Given the description of an element on the screen output the (x, y) to click on. 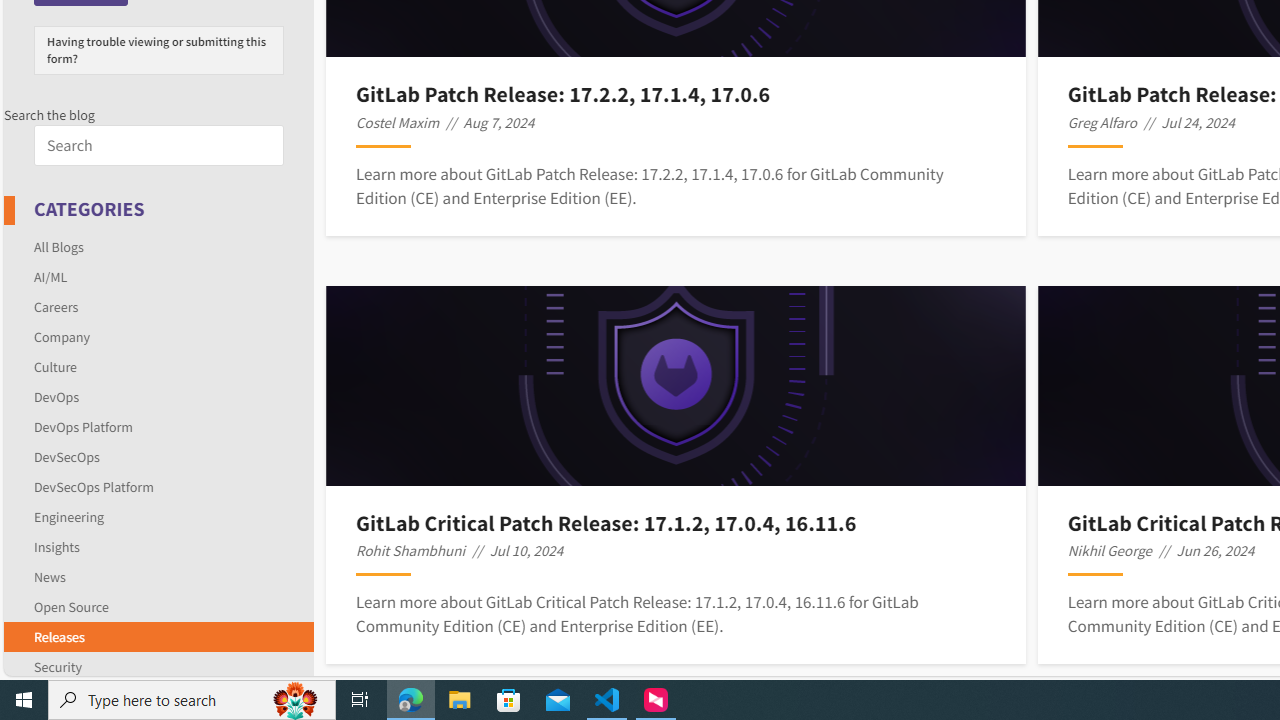
AI/ML (158, 276)
Security (57, 666)
Insights (158, 546)
Releases (158, 636)
Culture (158, 366)
Careers (56, 306)
Open Source (71, 605)
DevSecOps Platform (93, 486)
Careers (158, 305)
Post Image (676, 385)
GitLab Critical Patch Release: 17.1.2, 17.0.4, 16.11.6 (675, 522)
DevSecOps Platform (158, 485)
All Blogs (158, 246)
